Given the description of an element on the screen output the (x, y) to click on. 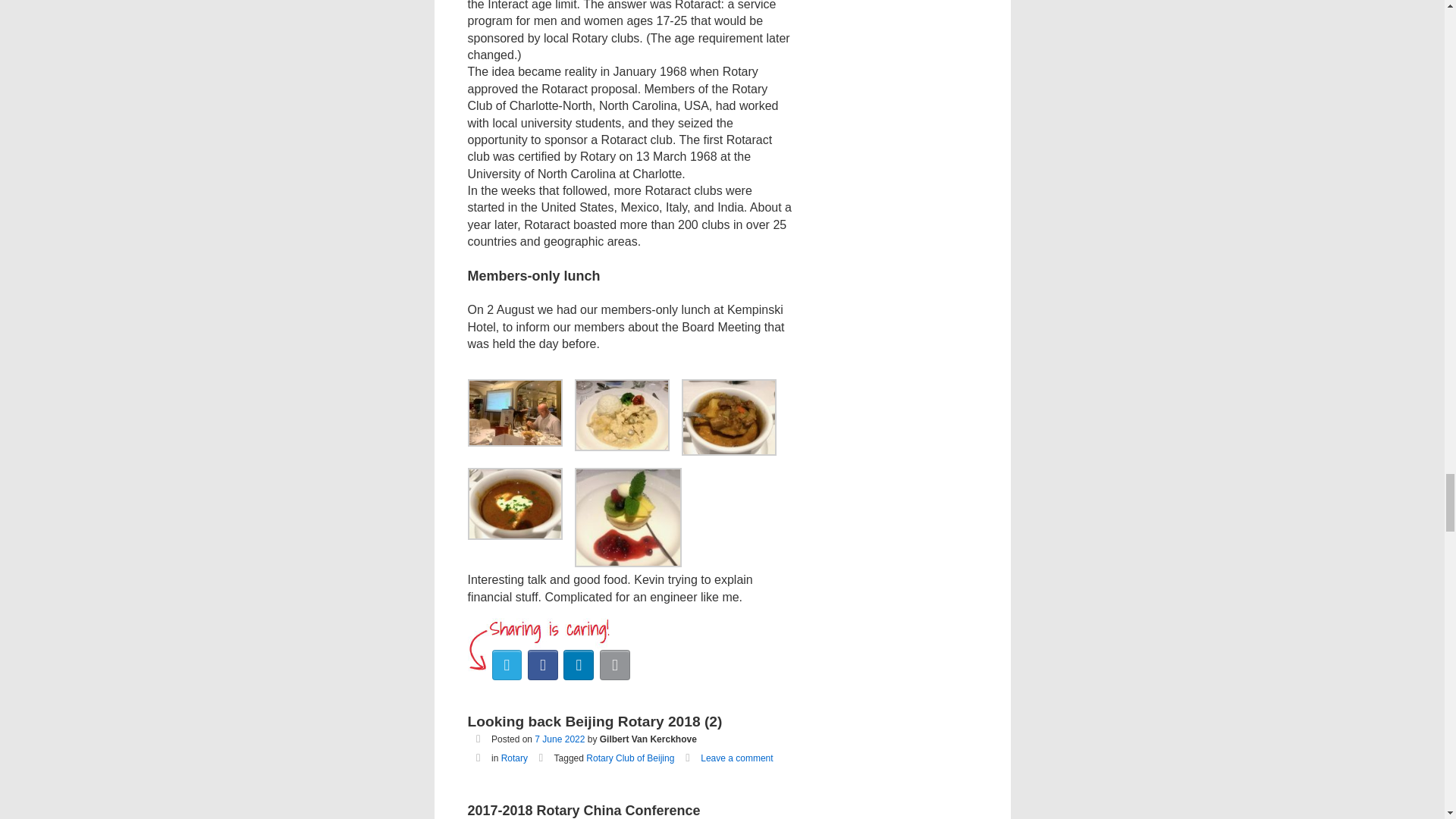
Tweet this article (506, 665)
Share by email (614, 665)
Share on LinkedIn (578, 665)
Share on Facebook (542, 665)
